Given the description of an element on the screen output the (x, y) to click on. 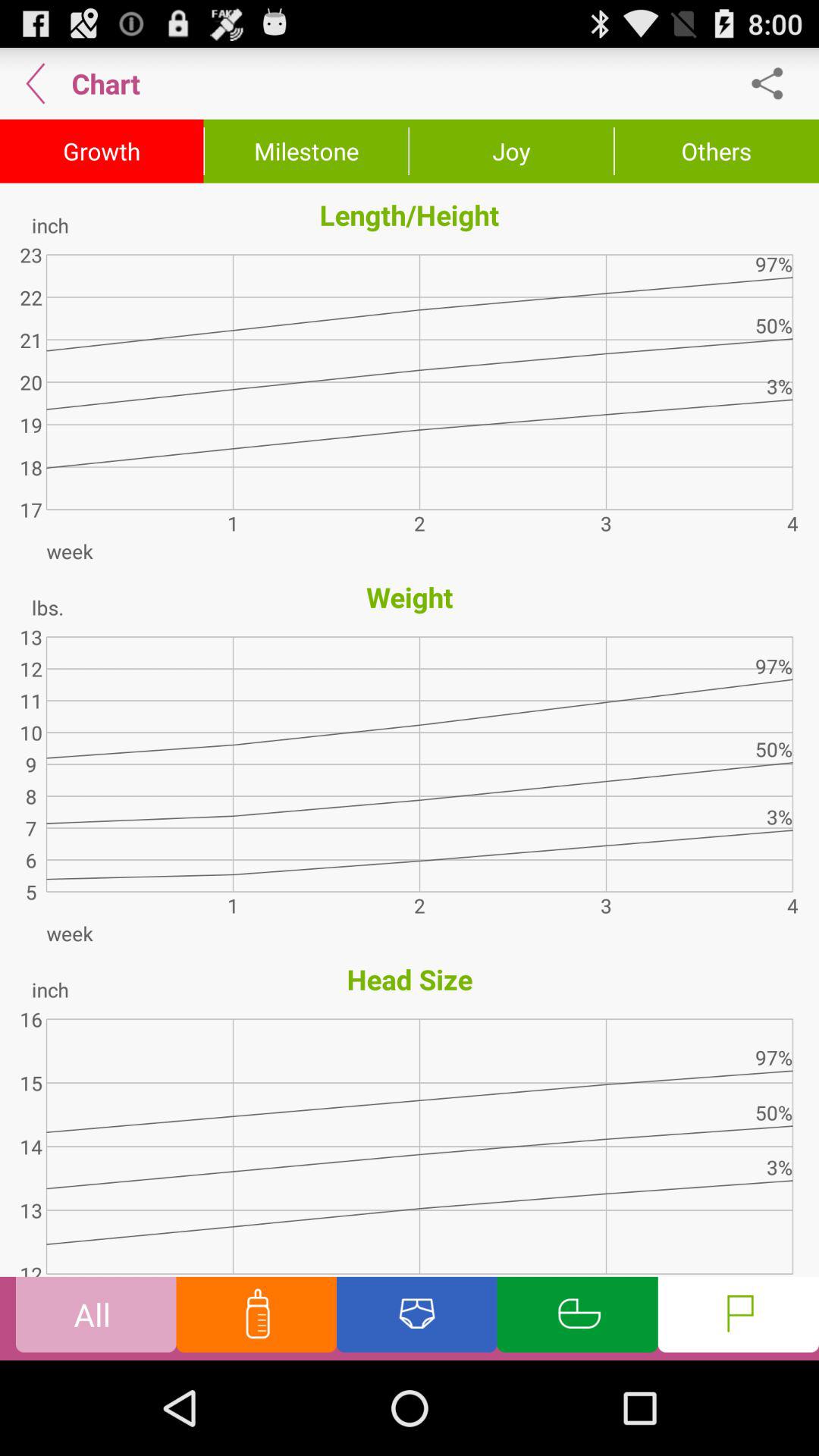
go back (35, 83)
